Given the description of an element on the screen output the (x, y) to click on. 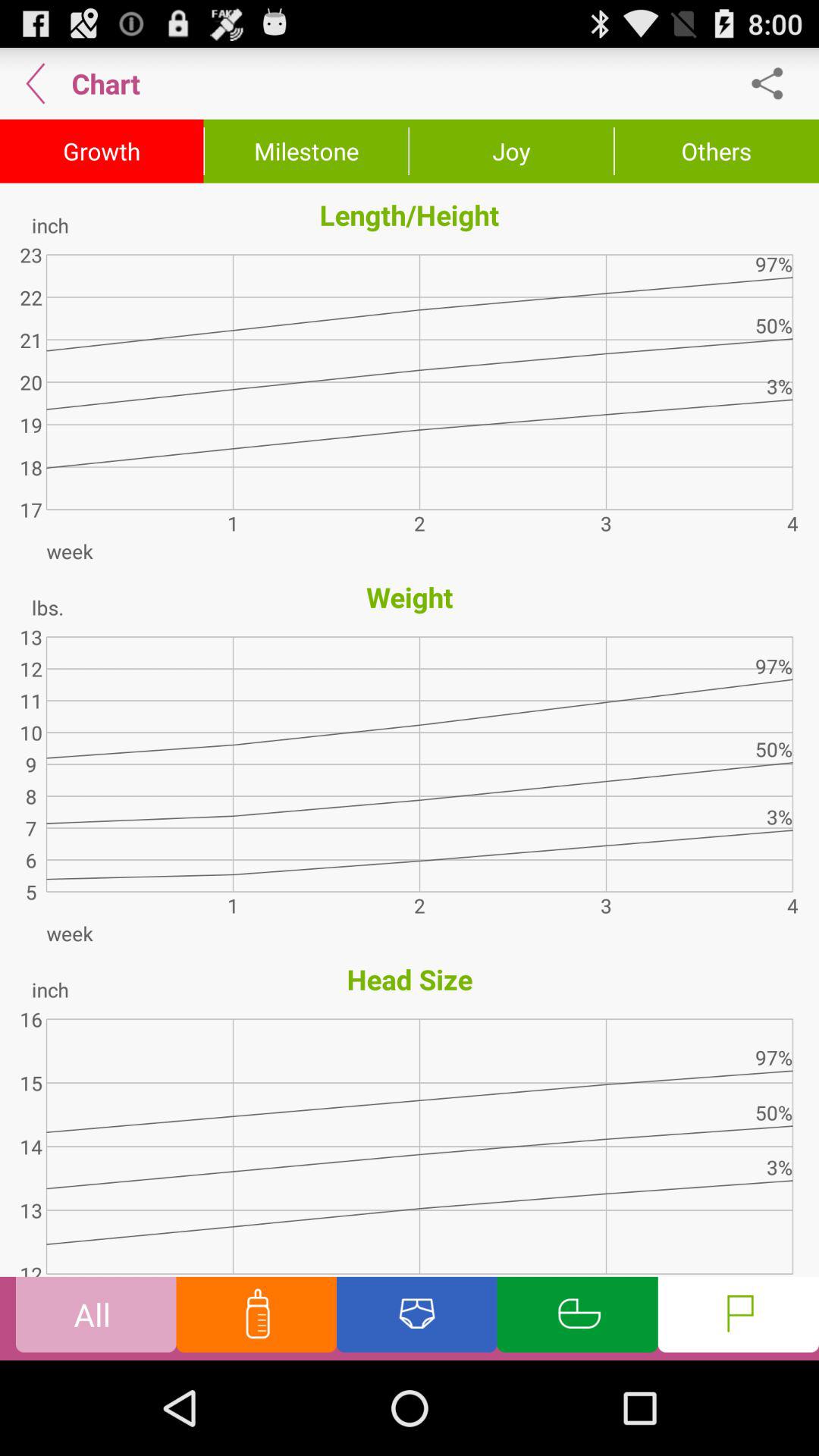
go back (35, 83)
